Given the description of an element on the screen output the (x, y) to click on. 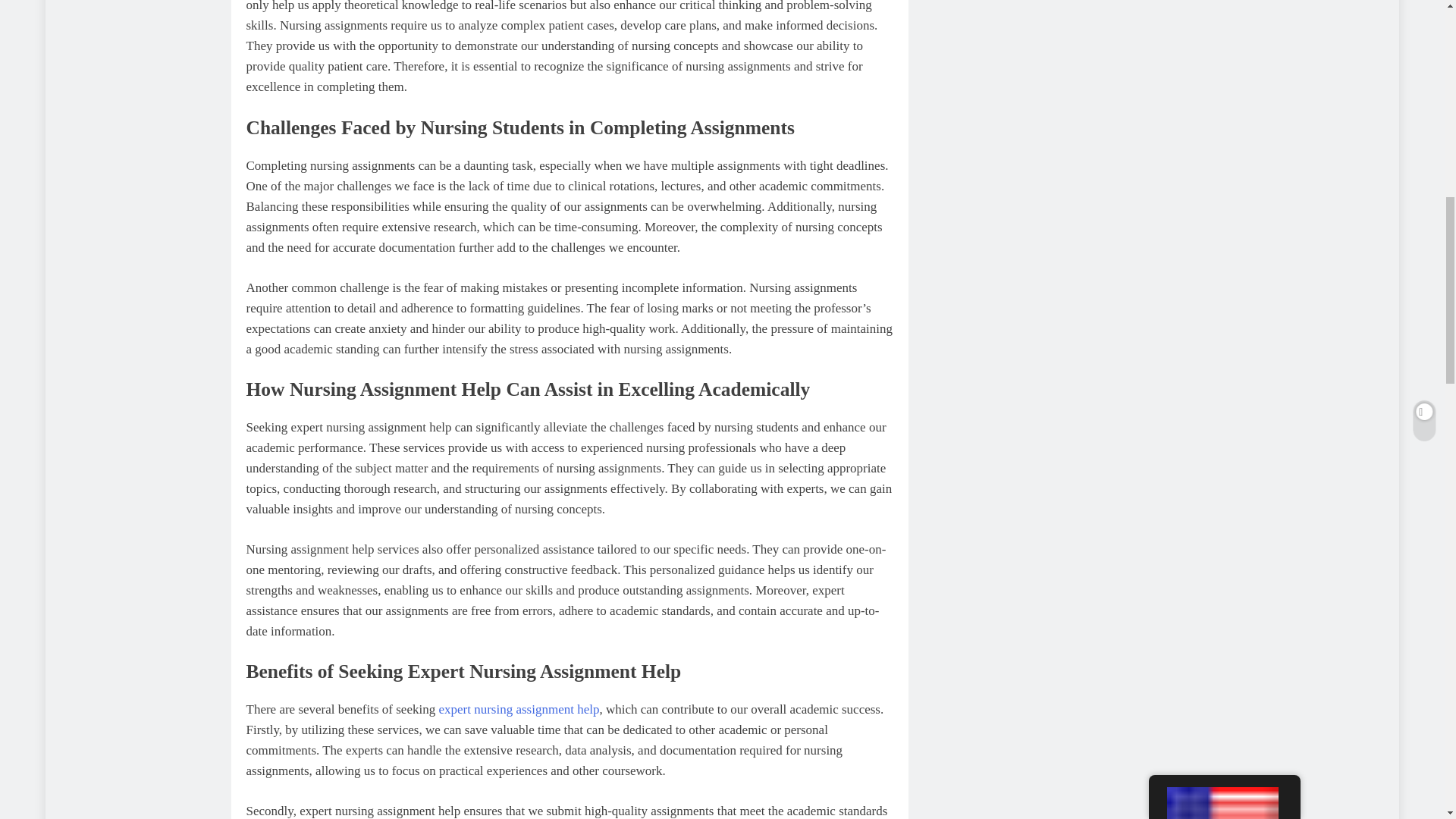
English (1222, 21)
